Given the description of an element on the screen output the (x, y) to click on. 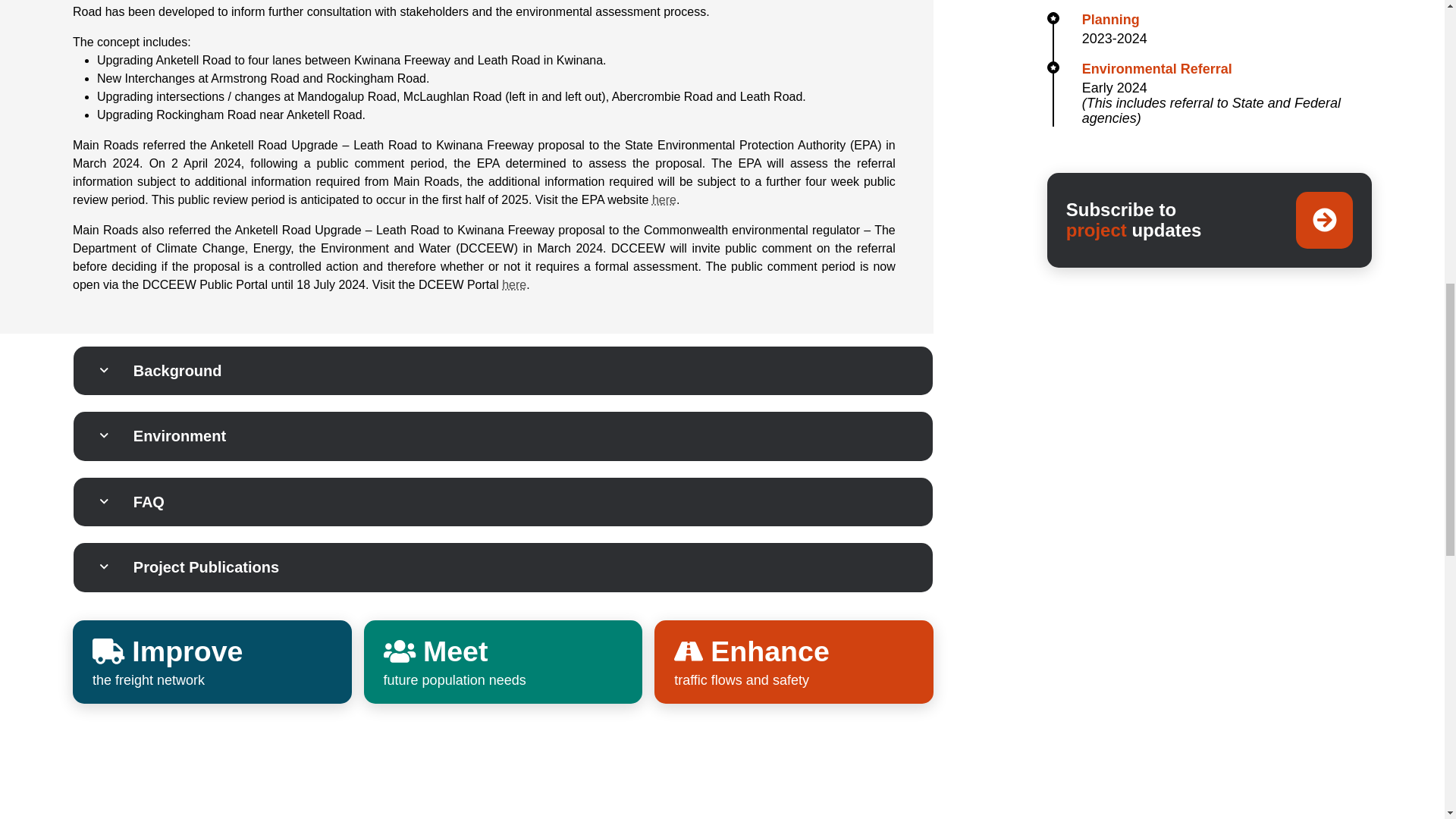
here (664, 199)
Open DCEEW portal  (513, 284)
here (513, 284)
Open EPA Website (664, 199)
